Given the description of an element on the screen output the (x, y) to click on. 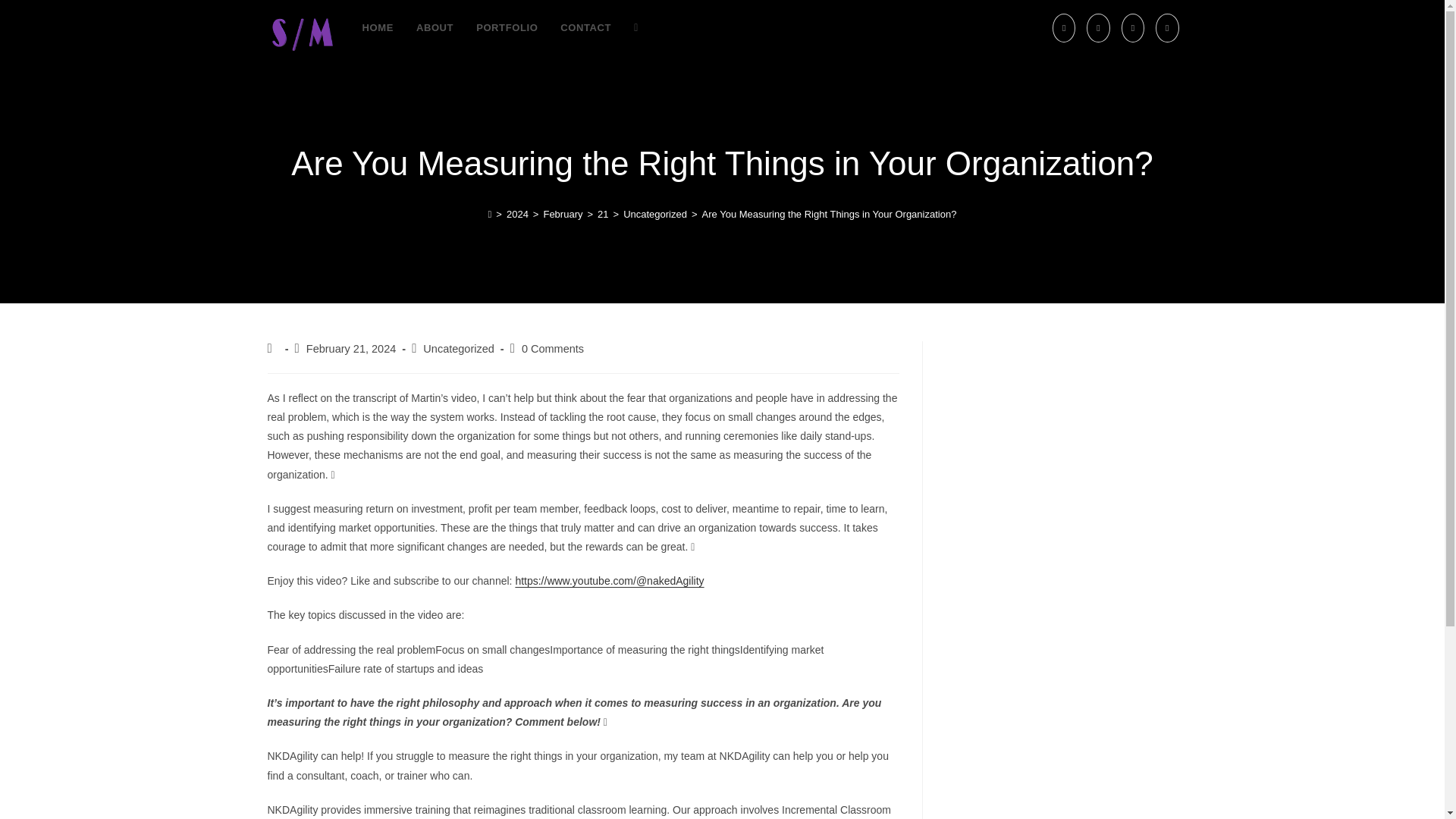
HOME (377, 28)
CONTACT (585, 28)
0 Comments (552, 348)
Uncategorized (459, 348)
PORTFOLIO (506, 28)
21 (602, 214)
February (562, 214)
ABOUT (434, 28)
2024 (517, 214)
Uncategorized (655, 214)
